Given the description of an element on the screen output the (x, y) to click on. 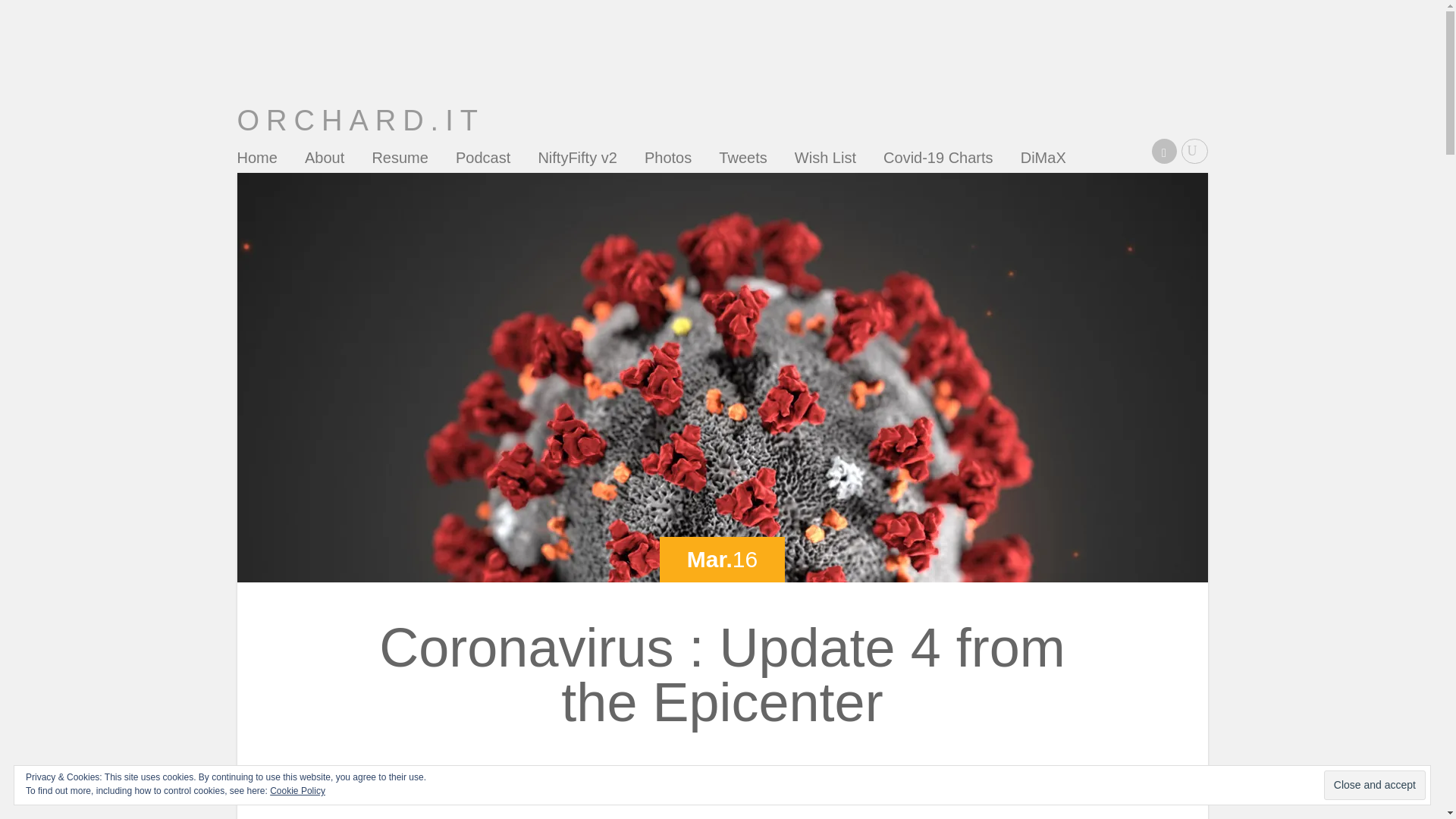
NiftyFifty v2 (576, 160)
alastair (705, 771)
Tweets (743, 160)
About (323, 160)
Cookie Policy (296, 790)
ORCHARD.IT (359, 120)
Search (21, 7)
Covid-19 Charts (937, 160)
Coronavirus (788, 771)
Close and accept (1374, 785)
